Given the description of an element on the screen output the (x, y) to click on. 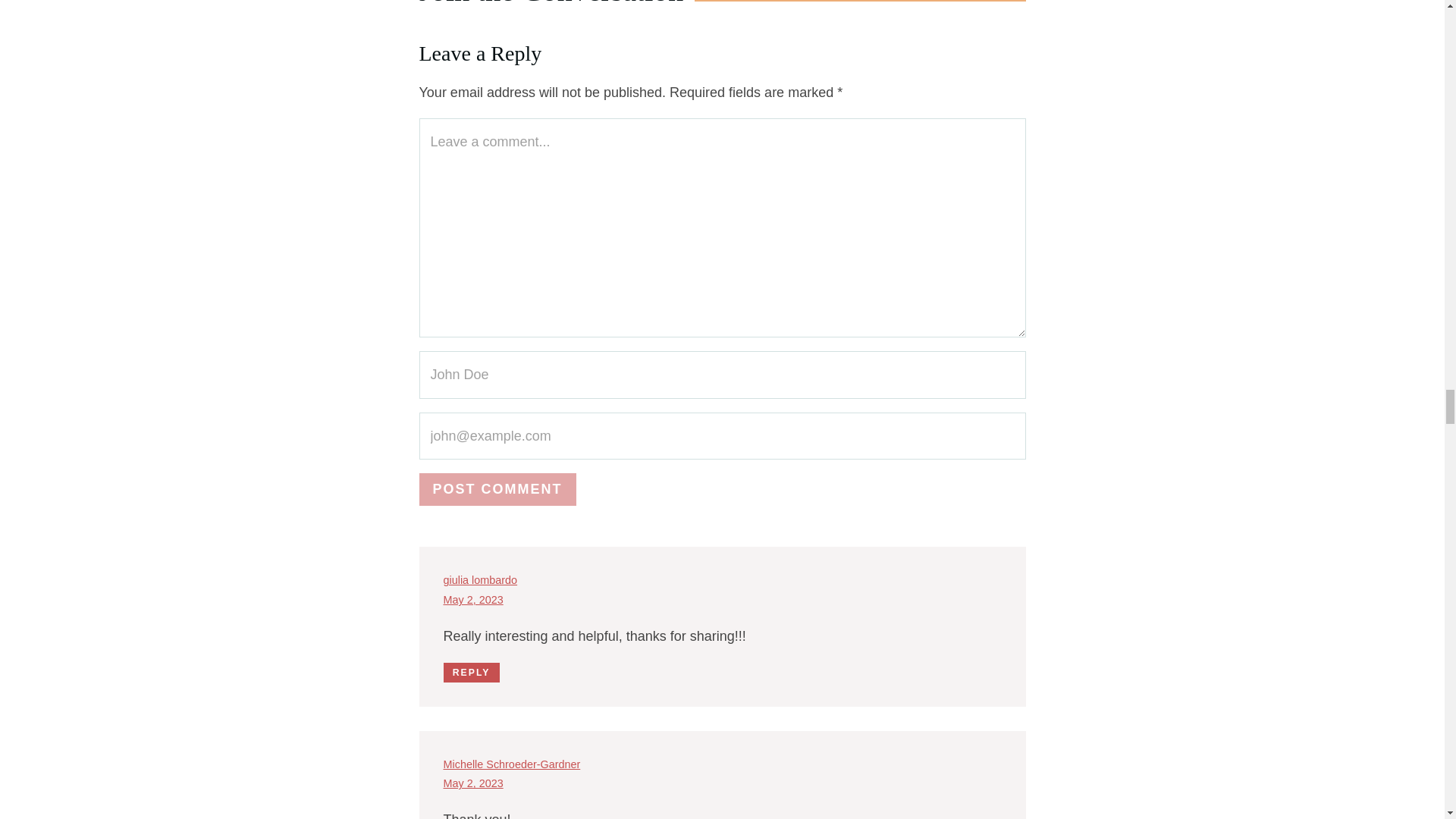
Post Comment (497, 489)
